Given the description of an element on the screen output the (x, y) to click on. 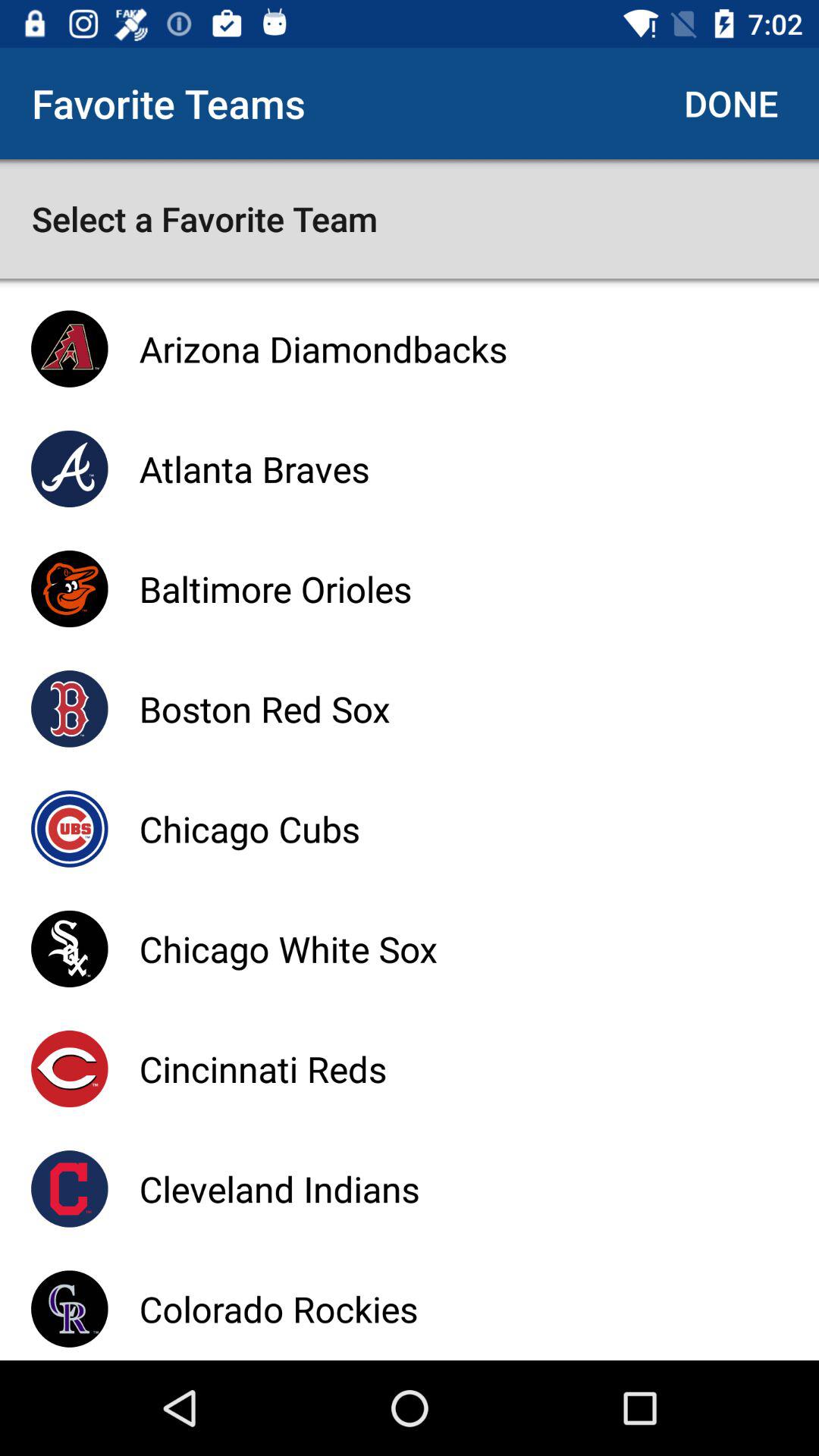
press the done icon (731, 103)
